Given the description of an element on the screen output the (x, y) to click on. 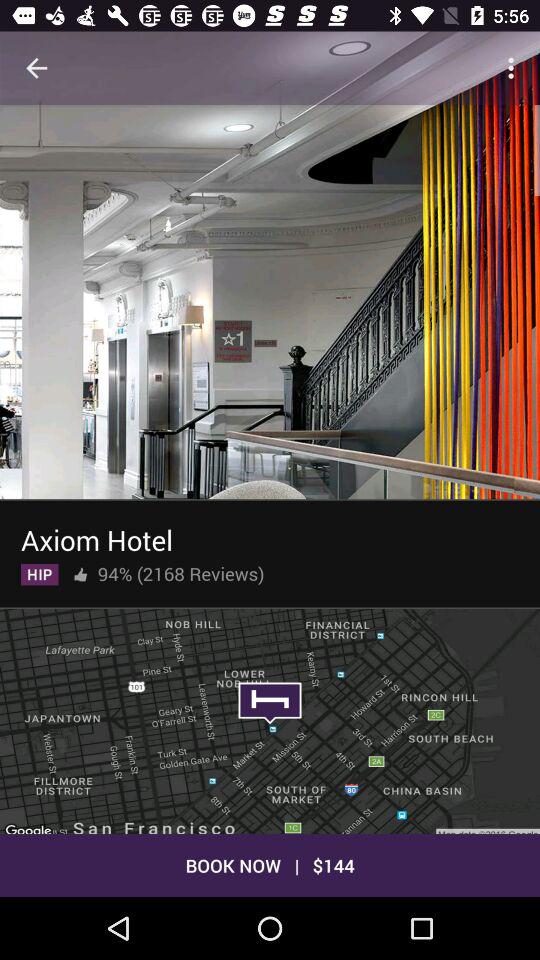
click item next to the 94% (2168 reviews) (80, 570)
